Given the description of an element on the screen output the (x, y) to click on. 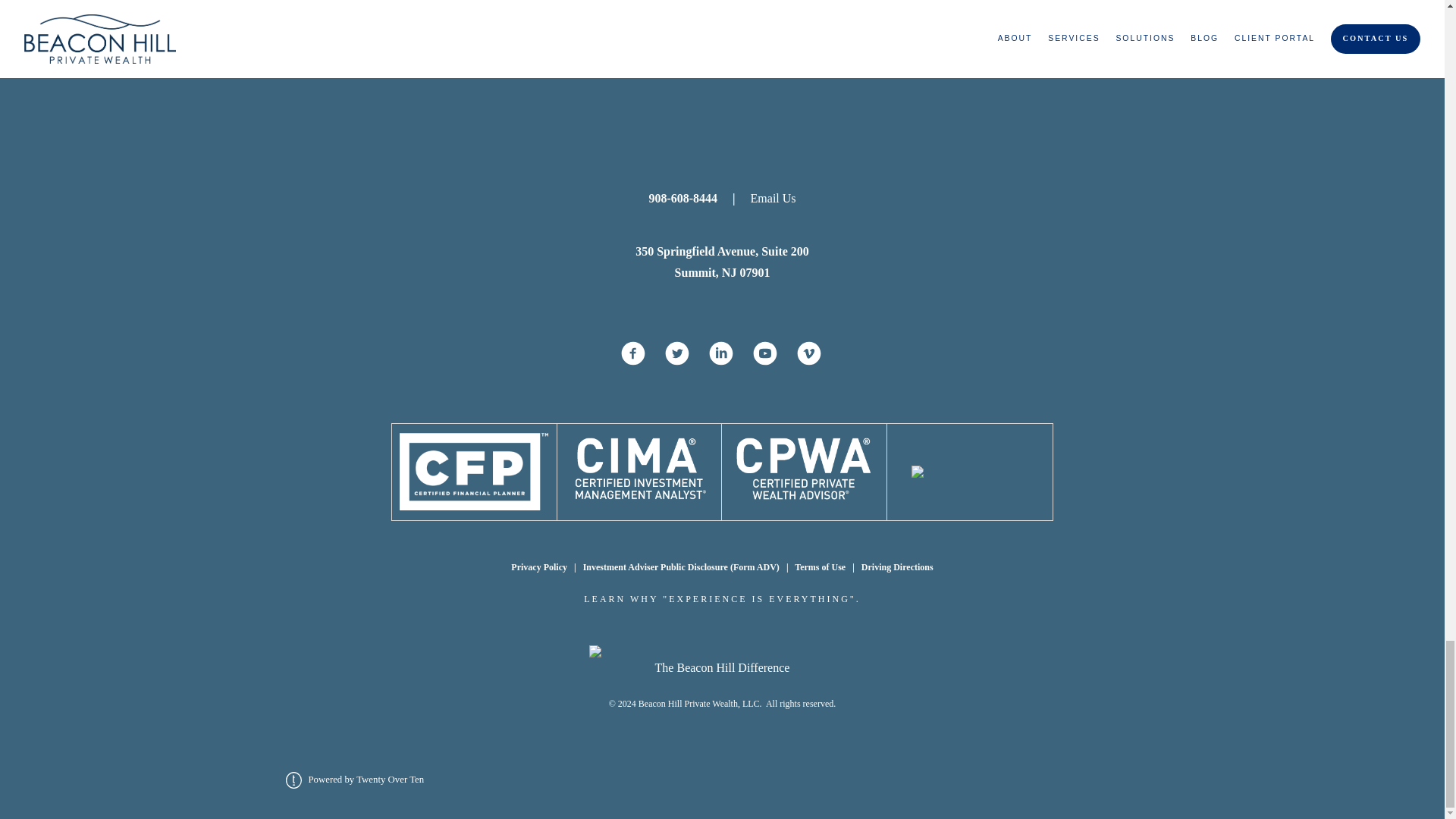
Powered by Twenty Over Ten (354, 778)
Terms of Use (819, 566)
 Driving Directions (896, 566)
Privacy Policy (539, 566)
     Email Us (765, 197)
The Beacon Hill Difference (722, 667)
